Given the description of an element on the screen output the (x, y) to click on. 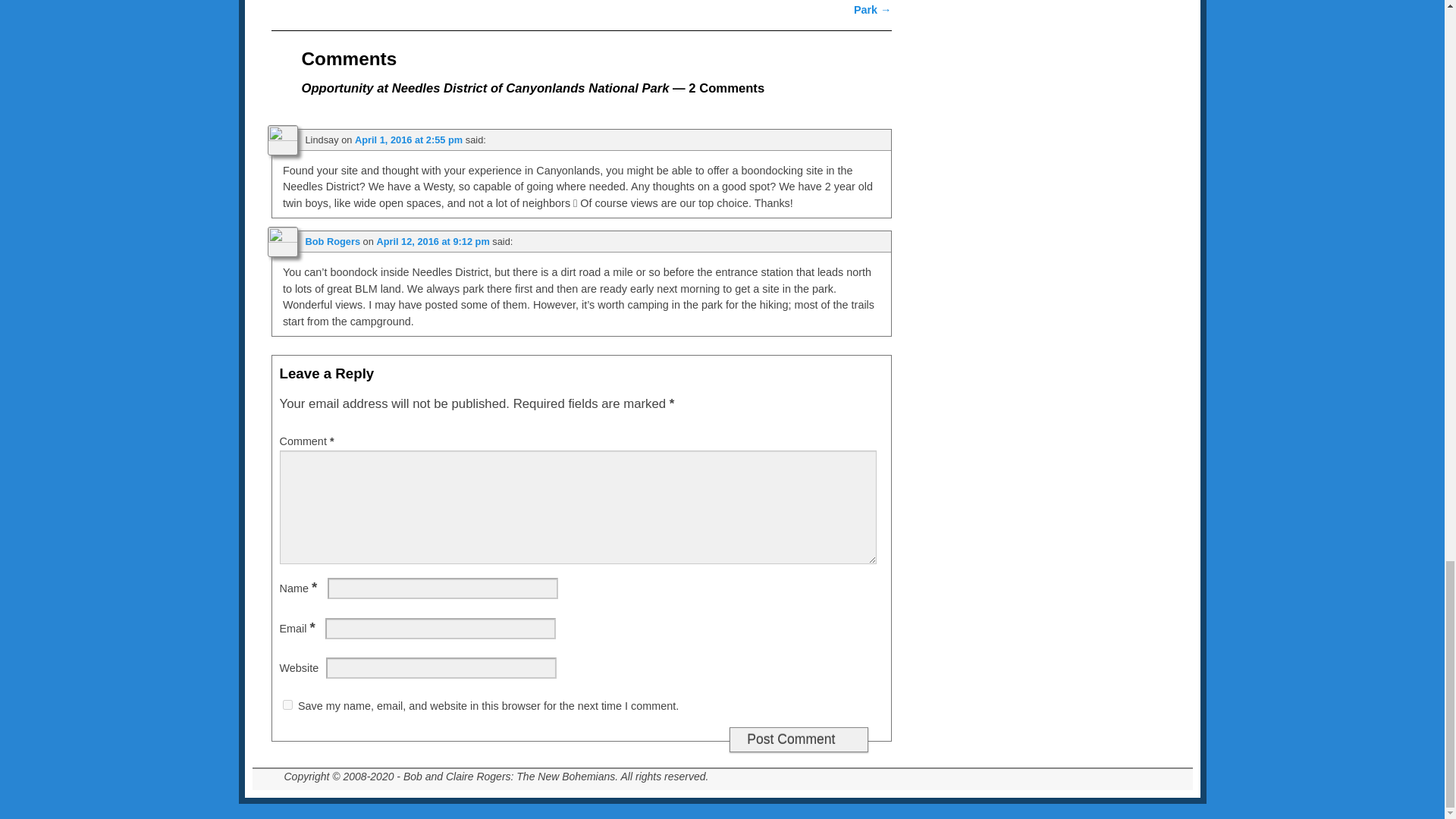
April 1, 2016 at 2:55 pm (409, 139)
yes (287, 705)
Post Comment (798, 739)
